Given the description of an element on the screen output the (x, y) to click on. 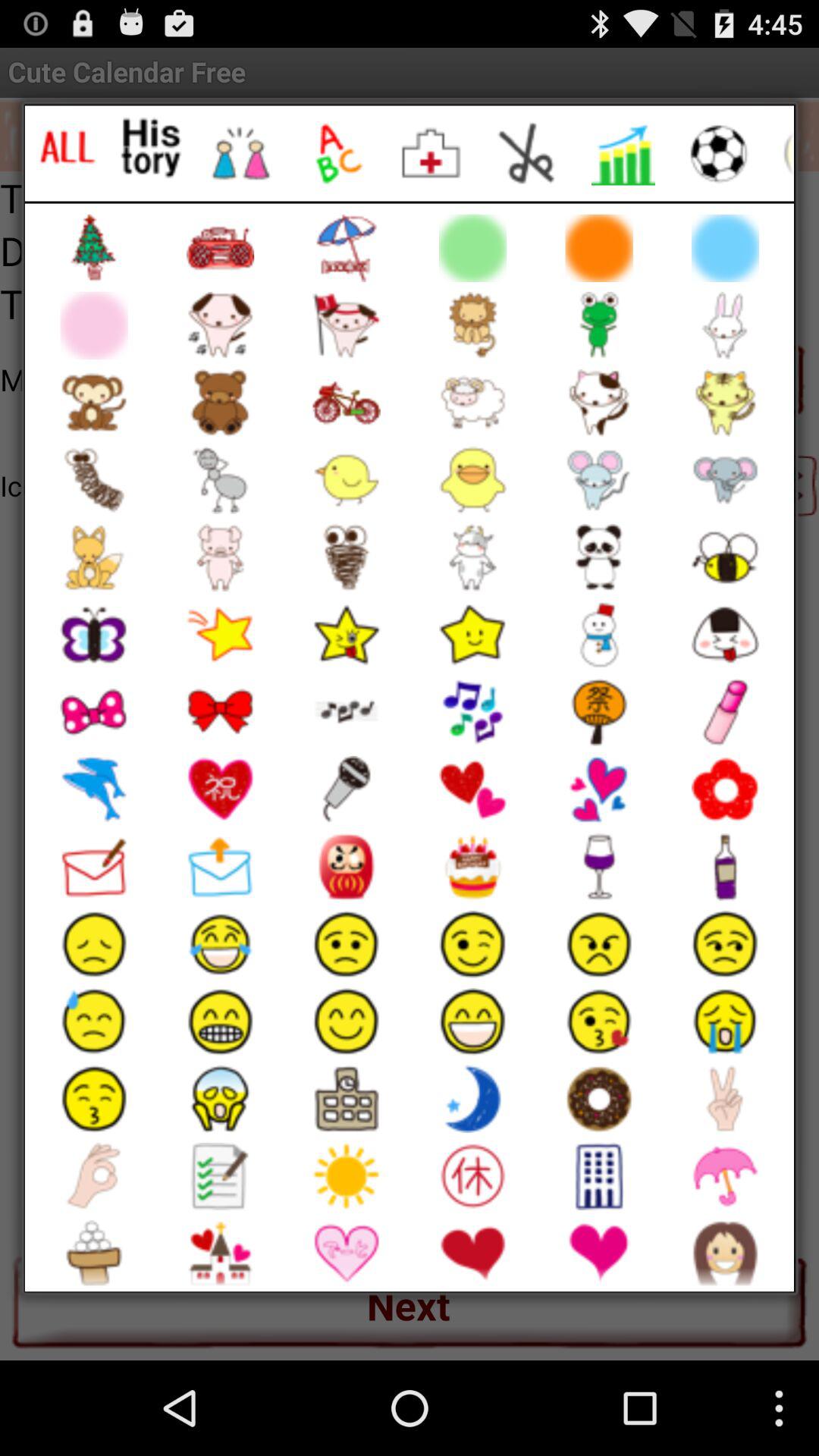
view 'stock related emoji 's category (623, 153)
